Given the description of an element on the screen output the (x, y) to click on. 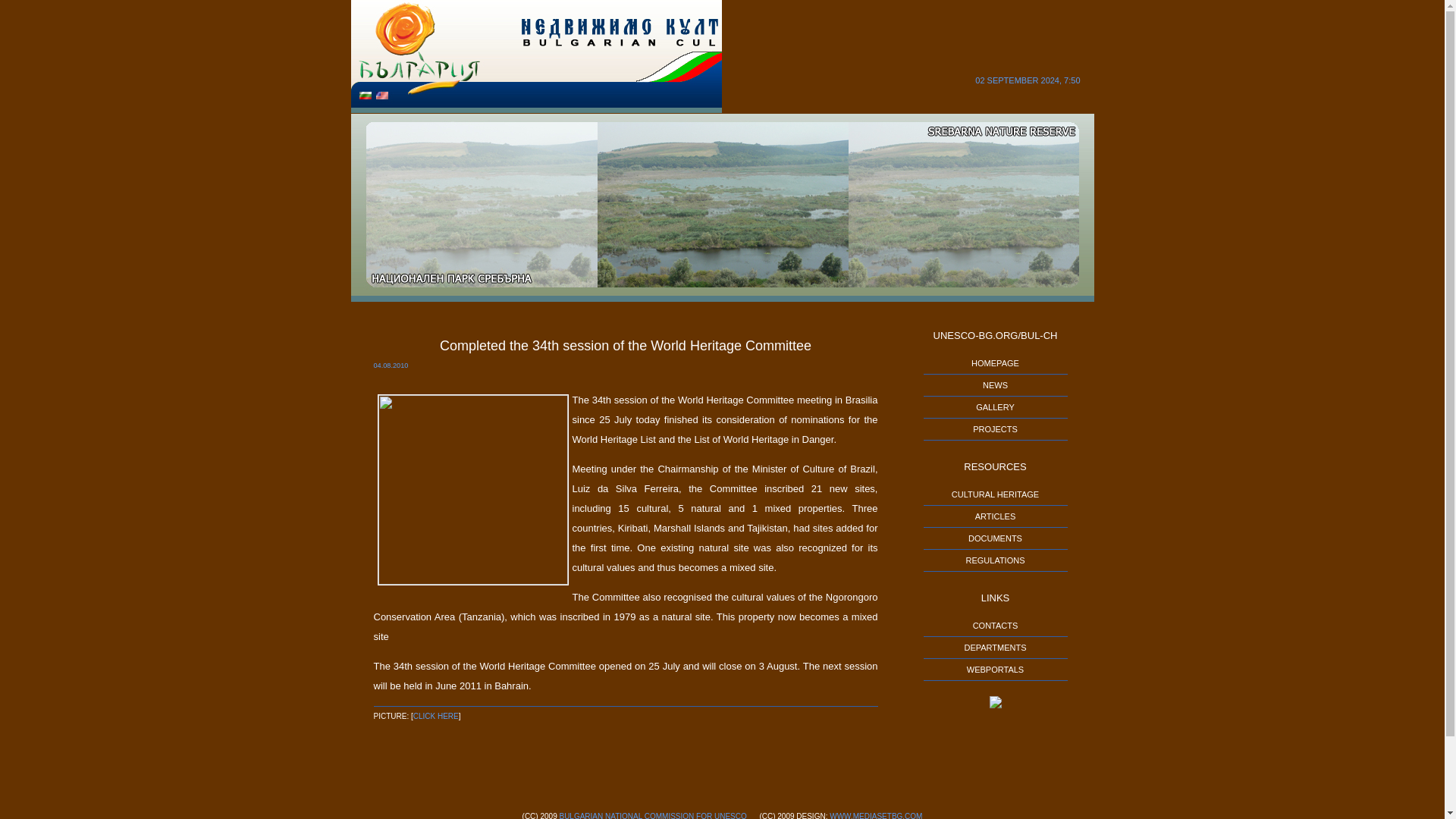
CULTURAL HERITAGE (995, 493)
GALLERY (994, 406)
WEBPORTALS (994, 669)
CONTACTS (994, 624)
Completed the 34th session of the World Heritage Committee (624, 345)
DEPARTMENTS (994, 646)
REGULATIONS (995, 560)
DOCUMENTS (995, 537)
CLICK HERE (435, 715)
ARTICLES (995, 515)
